Given the description of an element on the screen output the (x, y) to click on. 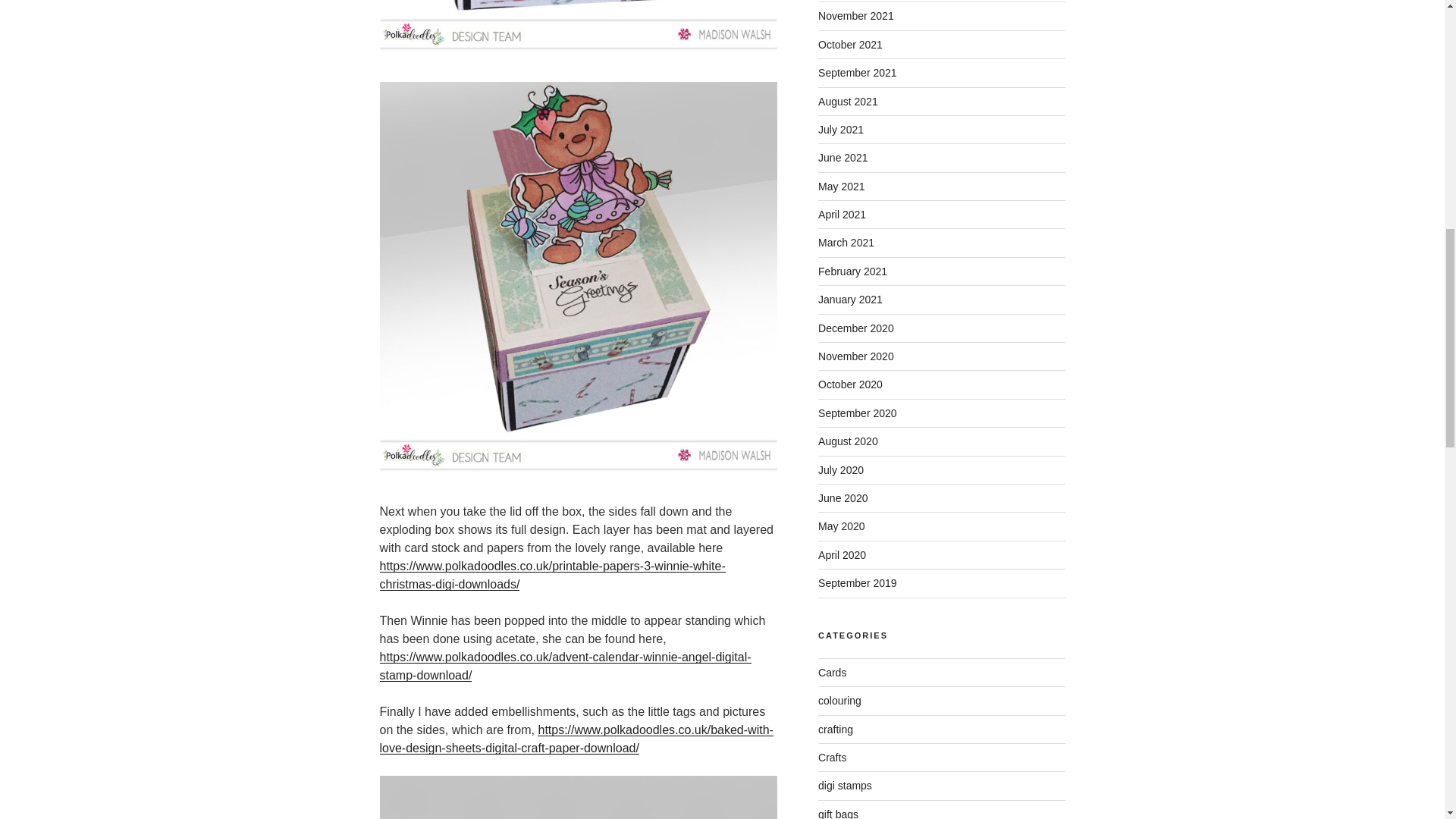
April 2021 (842, 214)
February 2021 (852, 271)
June 2021 (842, 157)
September 2021 (857, 72)
November 2021 (855, 15)
May 2021 (841, 186)
October 2021 (850, 44)
December 2020 (855, 328)
November 2020 (855, 356)
July 2021 (840, 129)
January 2021 (850, 299)
March 2021 (846, 242)
August 2021 (847, 101)
